Given the description of an element on the screen output the (x, y) to click on. 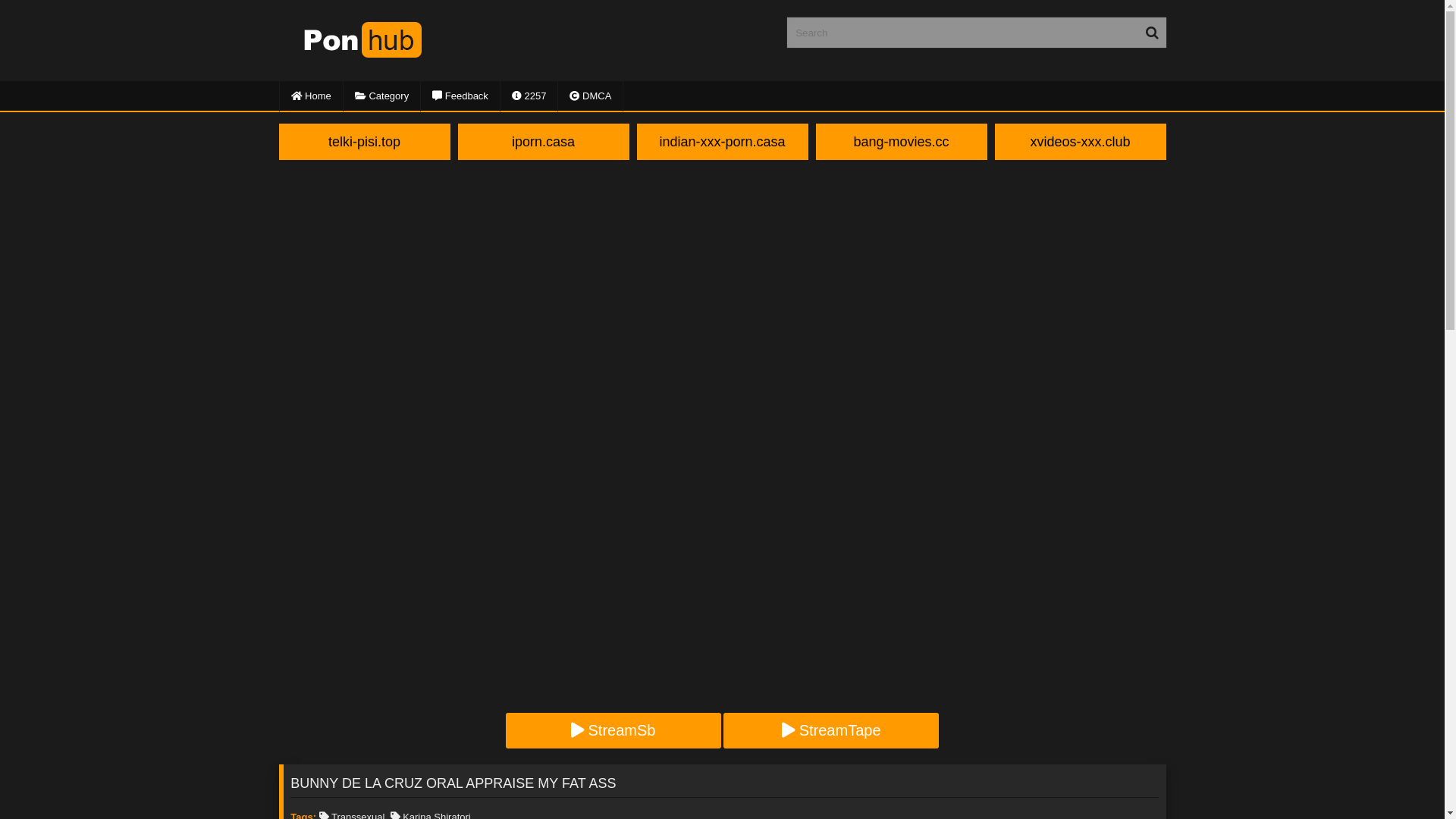
2257 Element type: text (529, 95)
StreamSb Element type: text (613, 730)
telki-pisi.top Element type: text (364, 141)
xvideos-xxx.club Element type: text (1080, 141)
bang-movies.cc Element type: text (901, 141)
Category Element type: text (381, 95)
iporn.casa Element type: text (543, 141)
Feedback Element type: text (460, 95)
StreamTape Element type: text (830, 730)
Home Element type: text (311, 95)
indian-xxx-porn.casa Element type: text (722, 141)
DMCA Element type: text (590, 95)
